Given the description of an element on the screen output the (x, y) to click on. 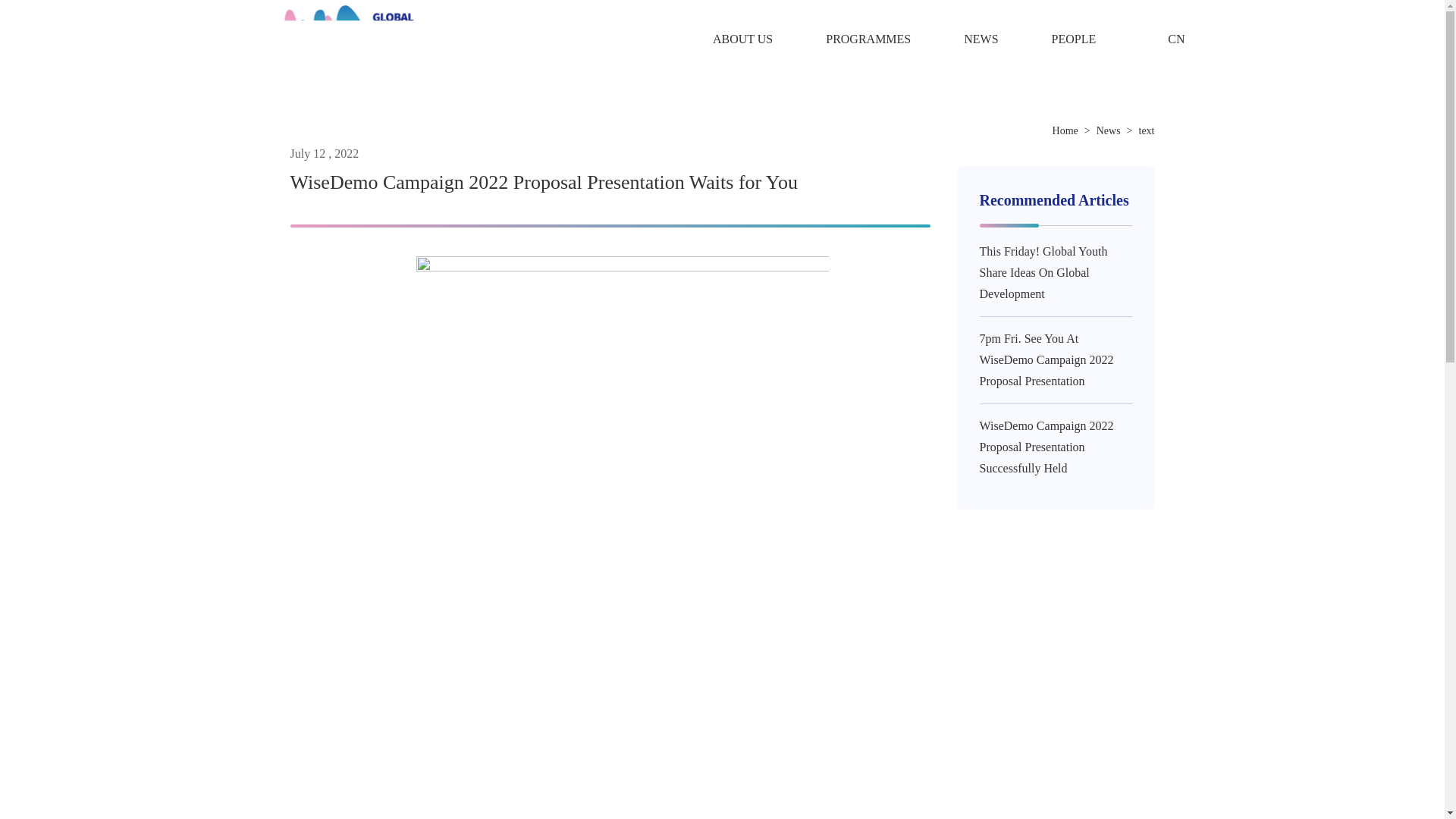
PROGRAMMES (868, 38)
Home (1065, 130)
This Friday! Global Youth Share Ideas On Global Development (1043, 272)
News (1108, 130)
